Given the description of an element on the screen output the (x, y) to click on. 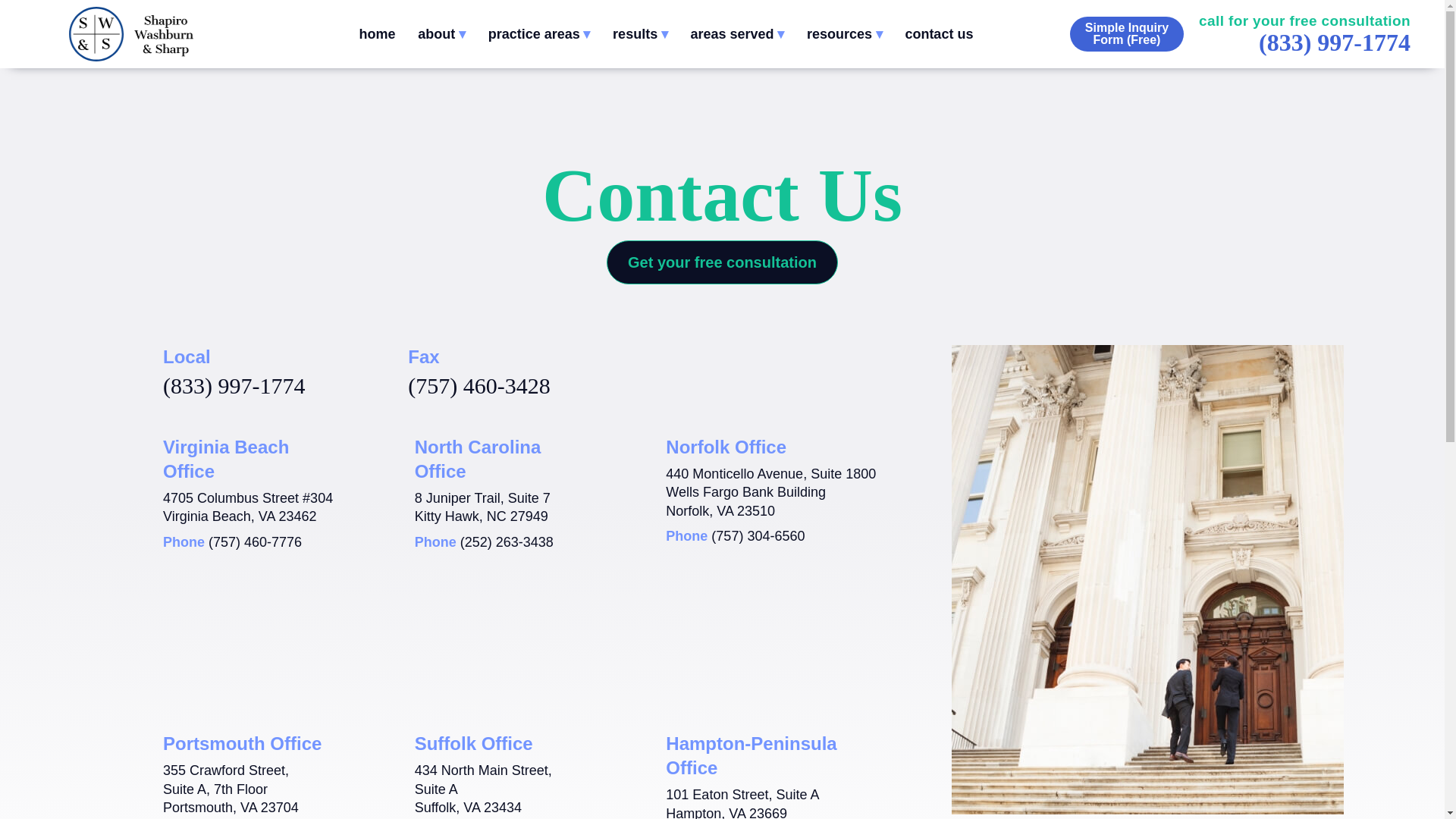
Local (1334, 42)
home (376, 34)
areas served (737, 34)
Local (233, 385)
Phone (254, 540)
resources (844, 34)
about (441, 34)
results (640, 34)
Phone (506, 540)
practice areas (539, 34)
